Given the description of an element on the screen output the (x, y) to click on. 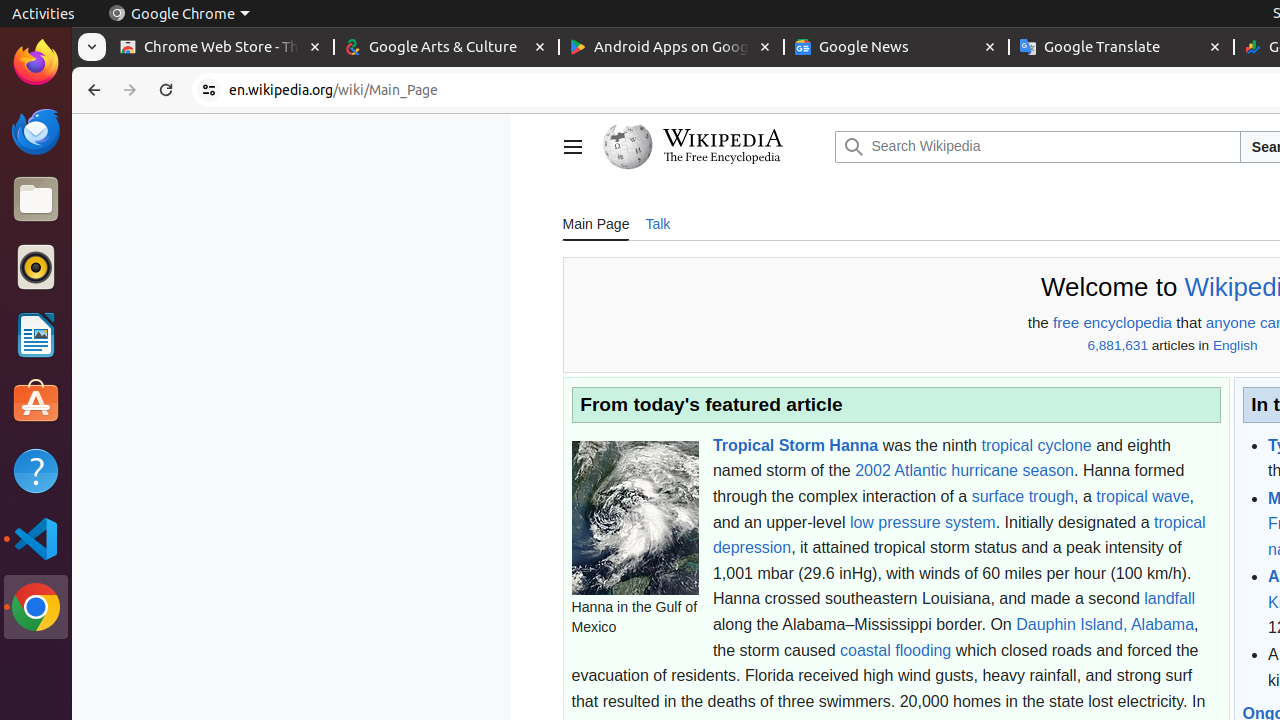
Dauphin Island, Alabama Element type: link (1105, 624)
landfall Element type: link (1169, 599)
Help Element type: push-button (36, 470)
Wikipedia The Free Encyclopedia Element type: link (713, 147)
Tropical Storm Hanna Element type: link (795, 444)
